Given the description of an element on the screen output the (x, y) to click on. 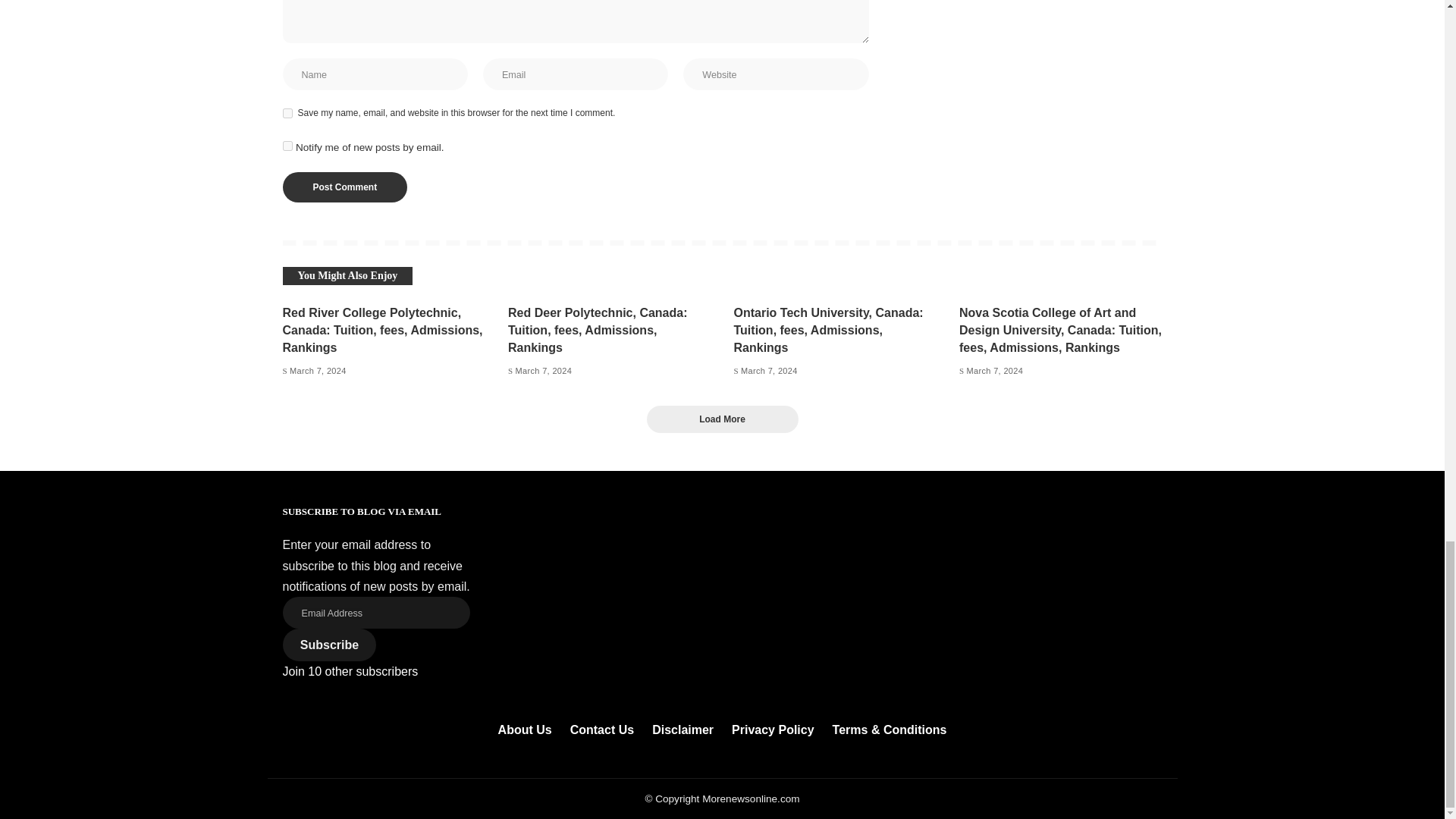
Post Comment (344, 186)
yes (287, 112)
subscribe (287, 145)
